Given the description of an element on the screen output the (x, y) to click on. 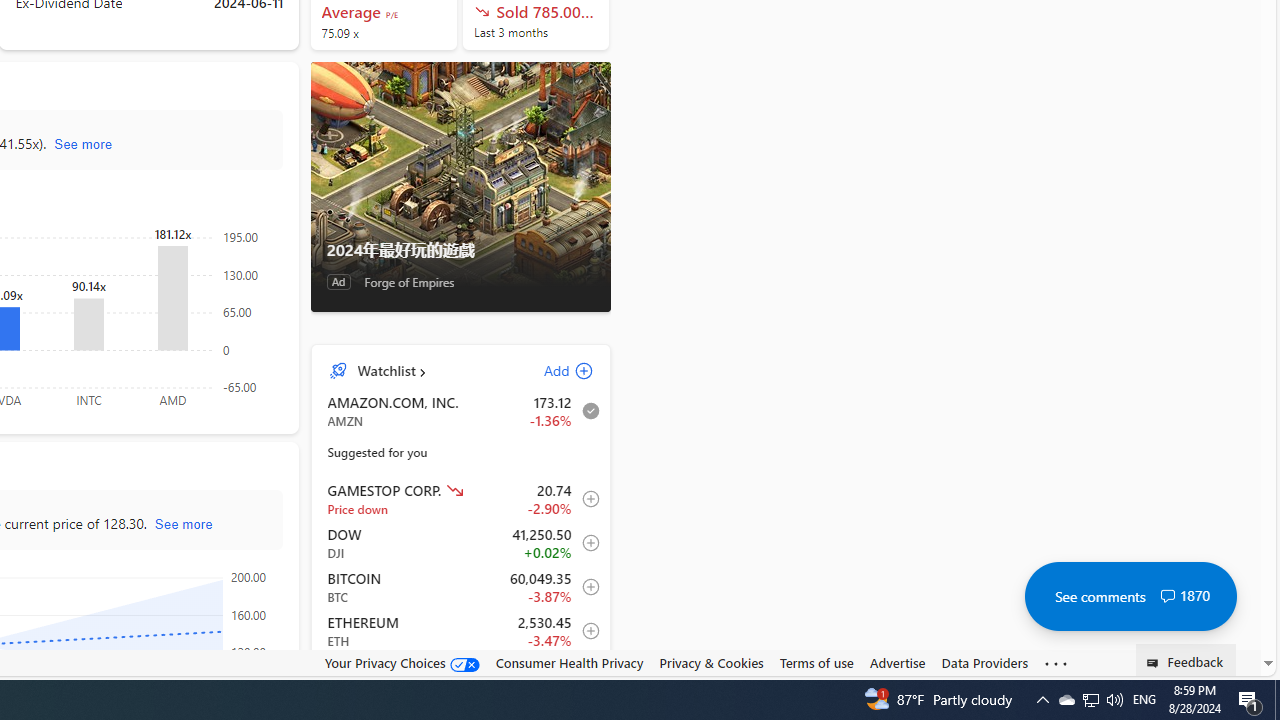
Feedback (1186, 659)
Data Providers (983, 663)
Ad (338, 282)
Advertise (897, 662)
GME GAMESTOP CORP. decrease 20.74 -0.62 -2.90% item0 (461, 498)
Consumer Health Privacy (569, 662)
Your Privacy Choices (401, 662)
Class: cwt-icon-vector (1167, 596)
Remove from watchlist (585, 411)
Terms of use (816, 663)
Terms of use (816, 662)
Privacy & Cookies (711, 663)
Class: feedback_link_icon-DS-EntryPoint1-1 (1156, 663)
Watchlist (386, 370)
Privacy & Cookies (711, 662)
